Given the description of an element on the screen output the (x, y) to click on. 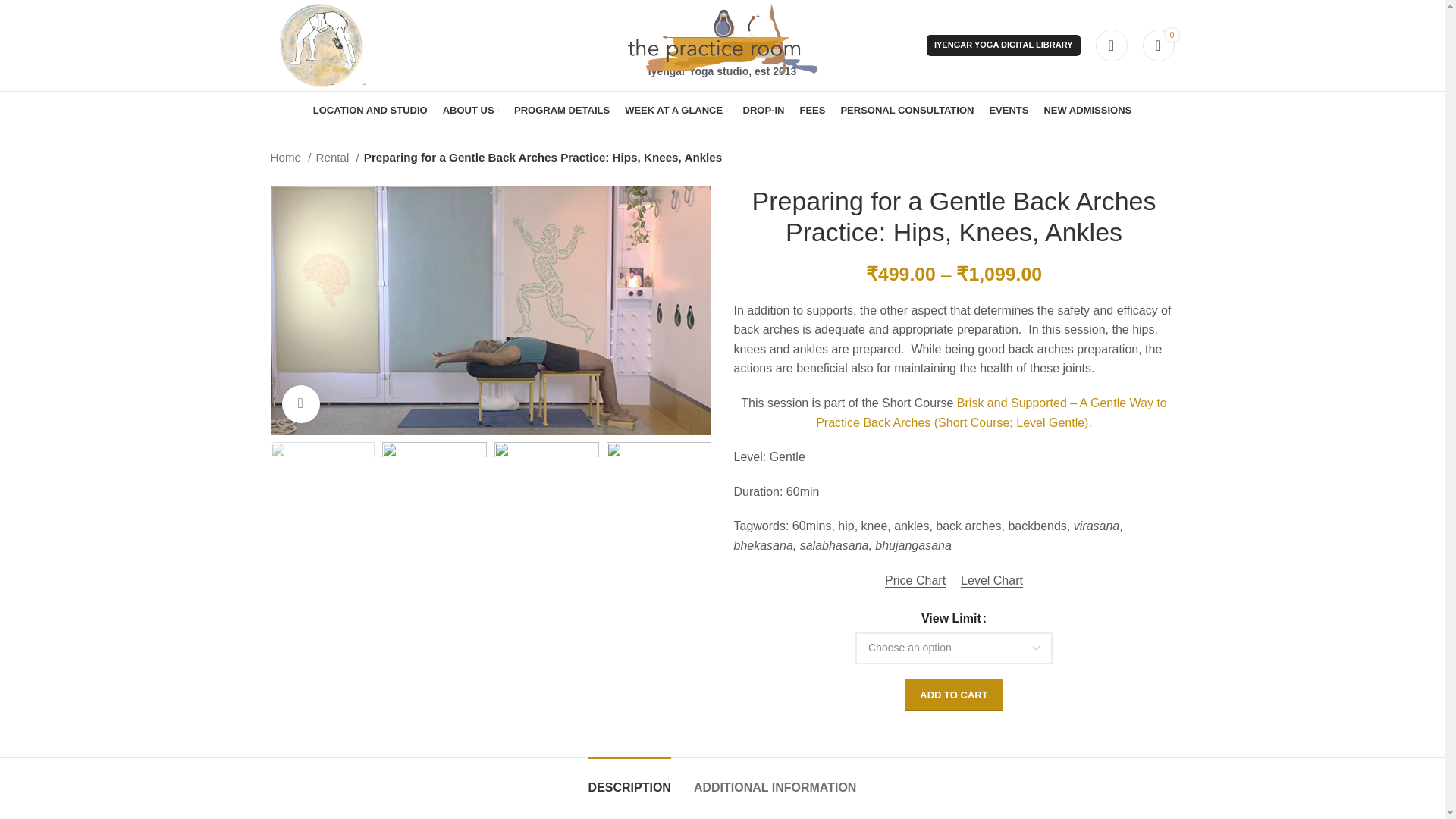
LOCATION AND STUDIO (370, 110)
EVENTS (1007, 110)
PROGRAM DETAILS (561, 110)
PERSONAL CONSULTATION (907, 110)
ABOUT US (470, 110)
Rental (336, 157)
IYENGAR YOGA DIGITAL LIBRARY (1003, 45)
My account (1110, 45)
Home (290, 157)
Shopping cart (1157, 45)
